Given the description of an element on the screen output the (x, y) to click on. 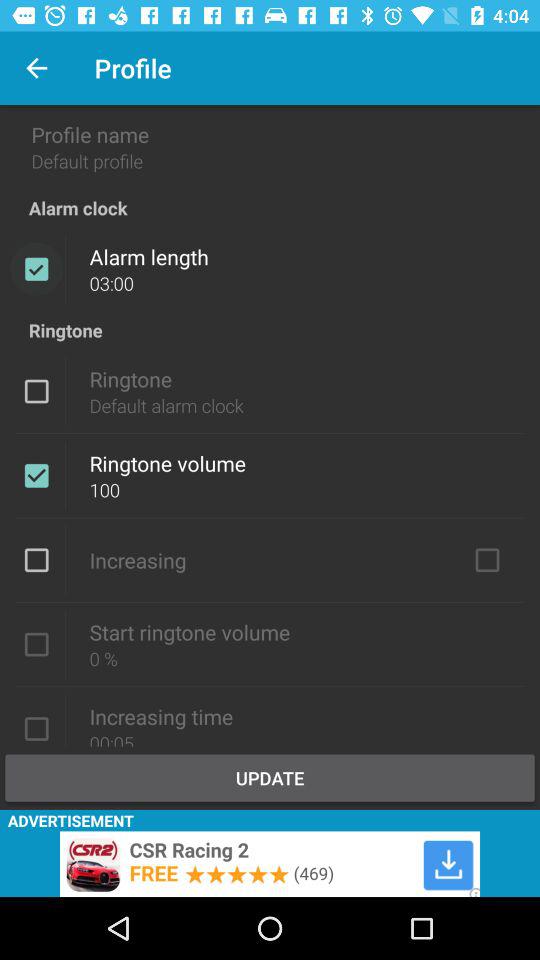
select option (36, 560)
